Given the description of an element on the screen output the (x, y) to click on. 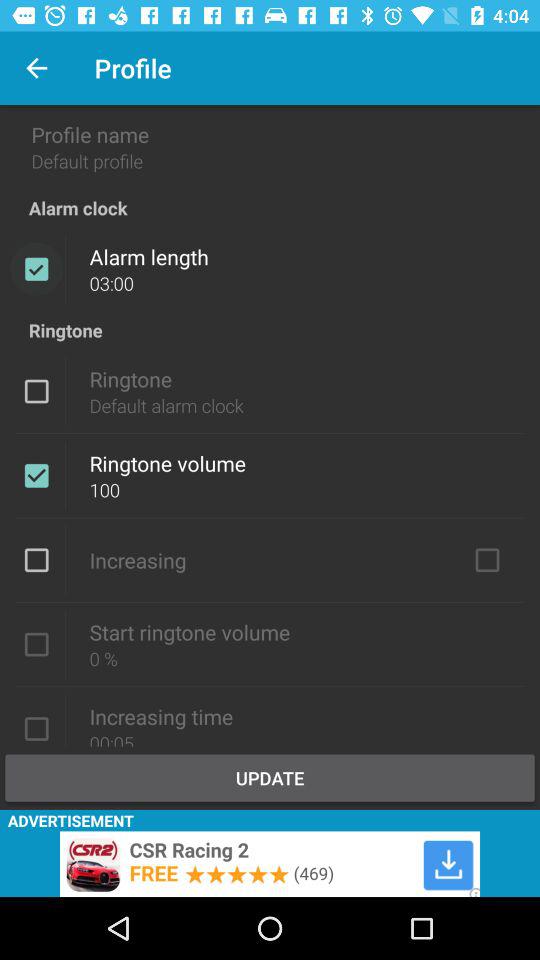
select option (36, 560)
